Given the description of an element on the screen output the (x, y) to click on. 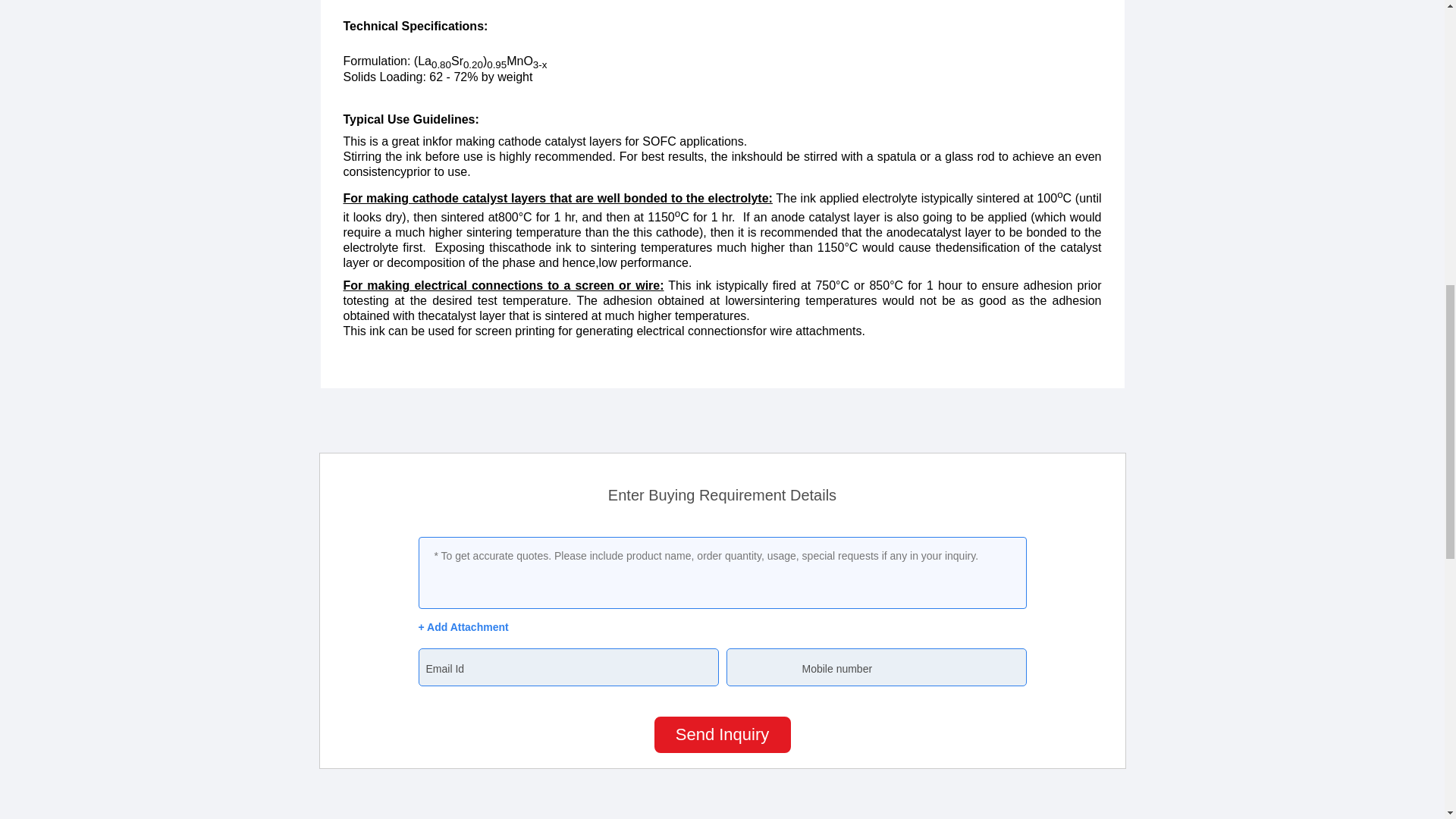
Send Inquiry (721, 734)
